Given the description of an element on the screen output the (x, y) to click on. 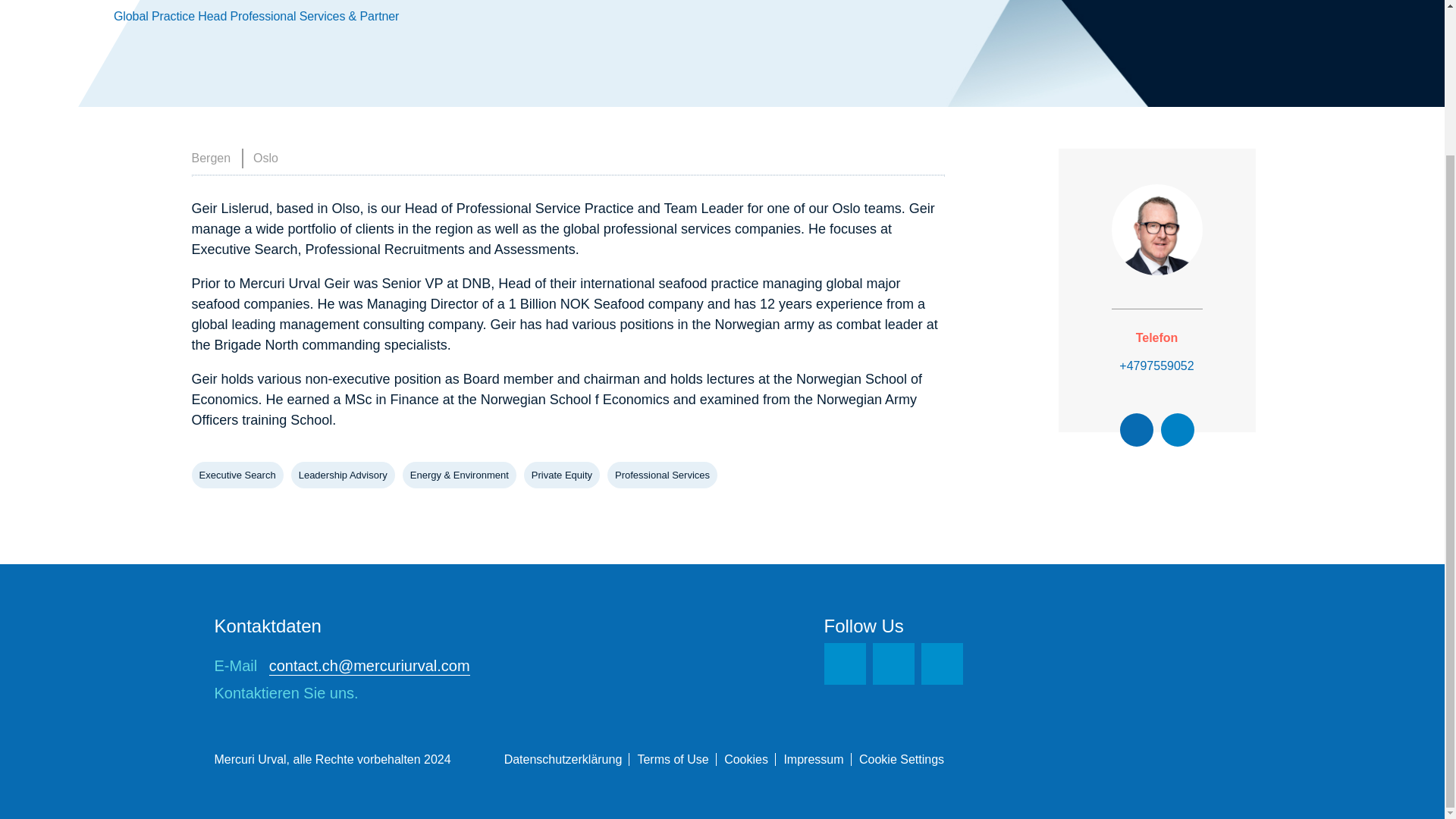
Financial Services (226, 173)
Unsere Geschichte (463, 51)
ESG (194, 173)
Our Values and Code of Conduct (496, 51)
Energie (201, 173)
Unsere Vision (451, 51)
Unsere ethischen Standards (486, 51)
